Given the description of an element on the screen output the (x, y) to click on. 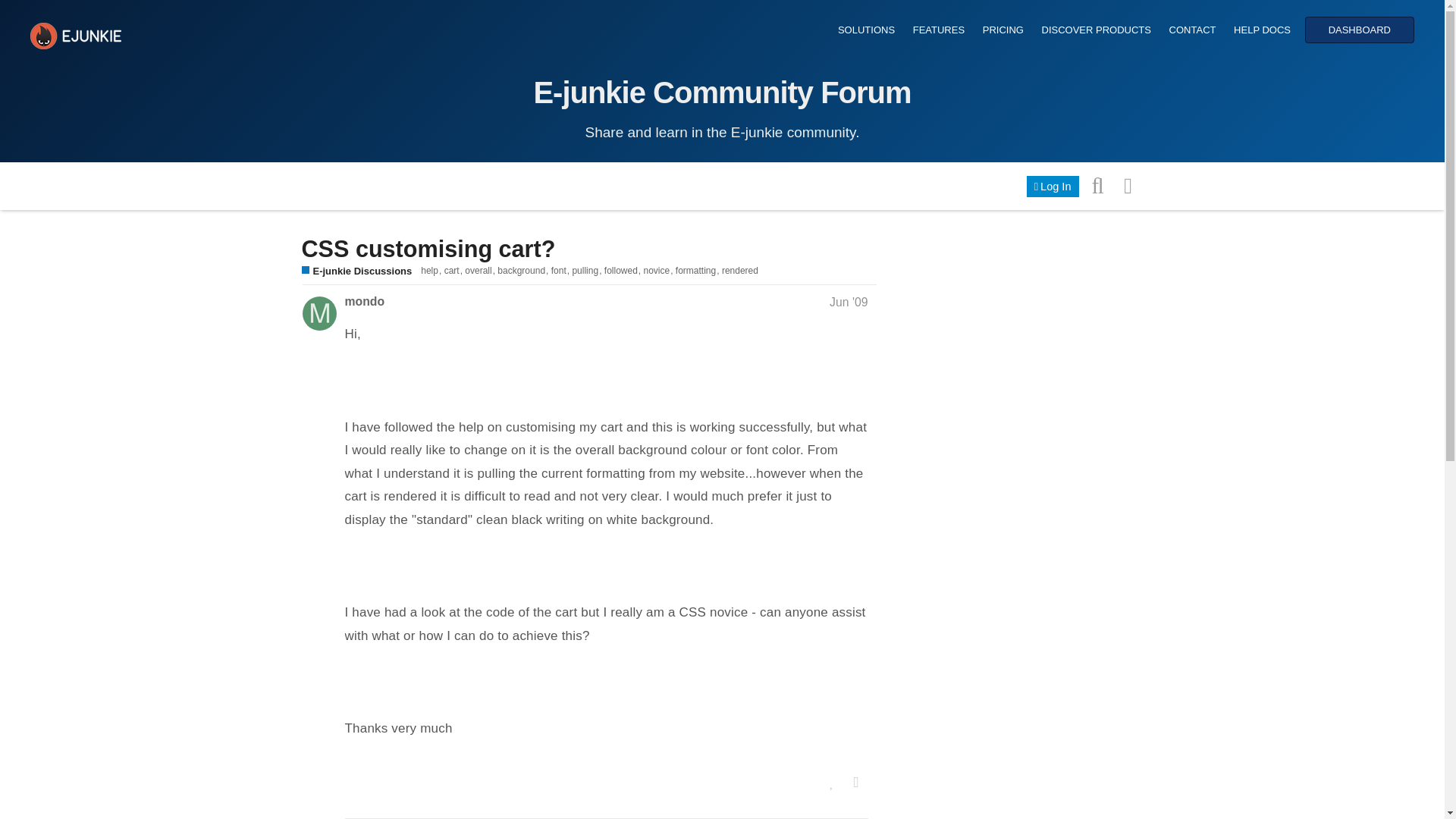
Jun '09 (848, 301)
go to another topic list or category (1127, 184)
pulling (588, 270)
toggle topic details (846, 818)
background (523, 270)
E-junkie Community Forum (721, 92)
SOLUTIONS (866, 29)
HELP DOCS (1262, 29)
font (561, 270)
mondo (363, 300)
